Given the description of an element on the screen output the (x, y) to click on. 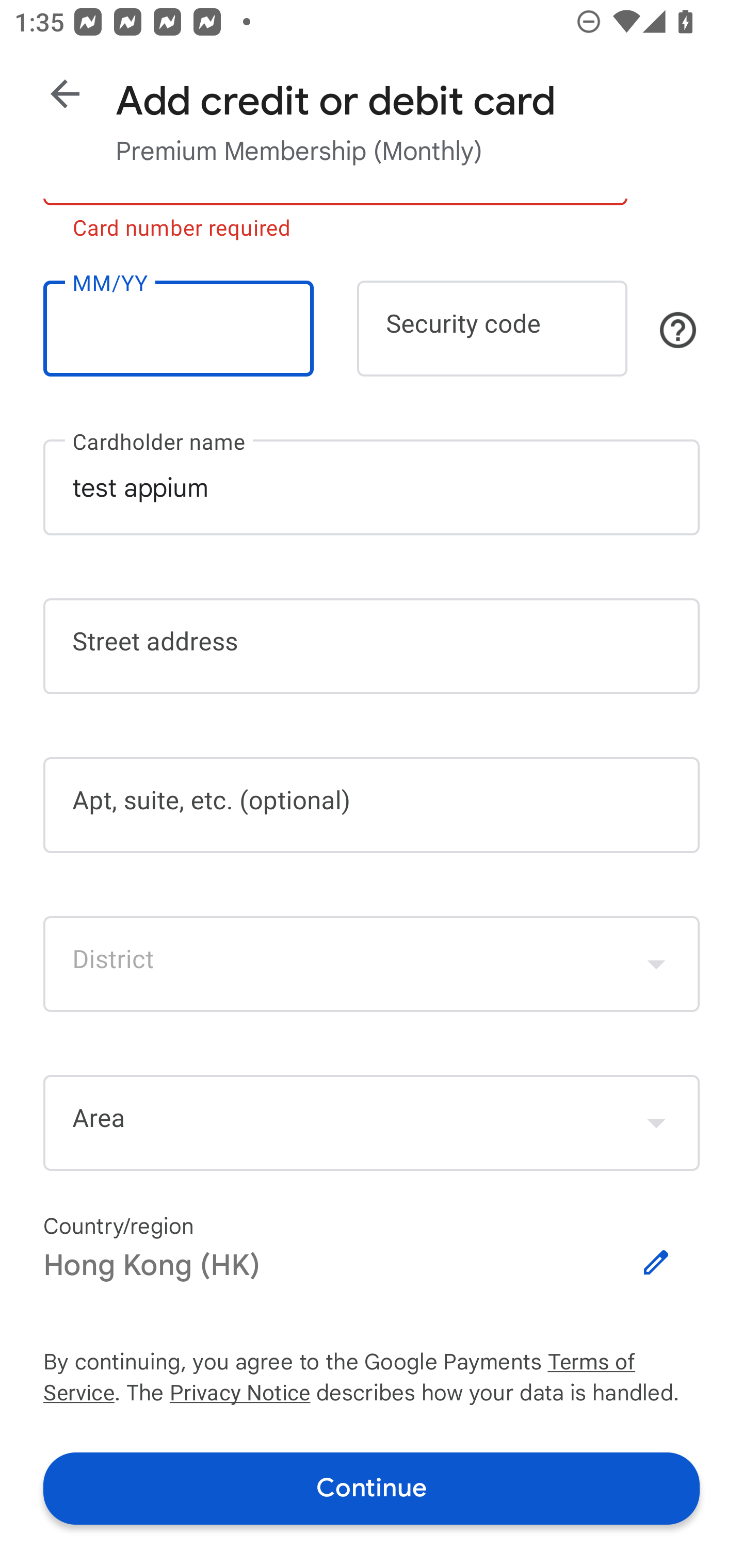
Back (64, 93)
Expiration date, 2 digit month, 2 digit year (178, 328)
Security code (492, 328)
Security code help (677, 329)
test appium (371, 486)
Street address (371, 646)
Apt, suite, etc. (optional) (371, 804)
District (371, 963)
Show dropdown menu (655, 963)
Area (371, 1123)
Show dropdown menu (655, 1122)
country edit button (655, 1262)
Terms of Service (623, 1362)
Privacy Notice (239, 1394)
Continue (371, 1487)
